Given the description of an element on the screen output the (x, y) to click on. 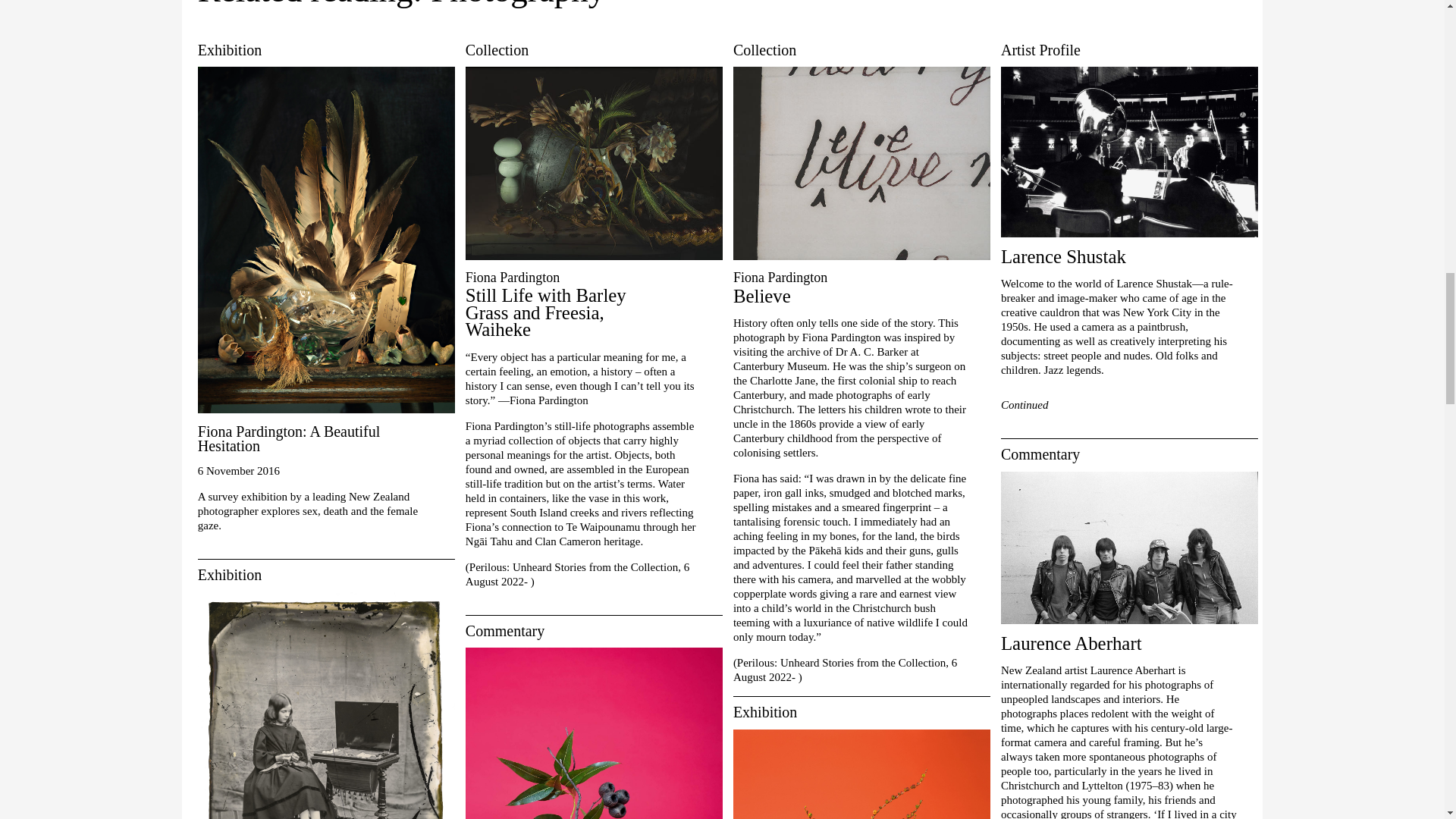
Fiona Pardington: A Beautiful Hesitation (294, 438)
Exhibition (326, 50)
